Given the description of an element on the screen output the (x, y) to click on. 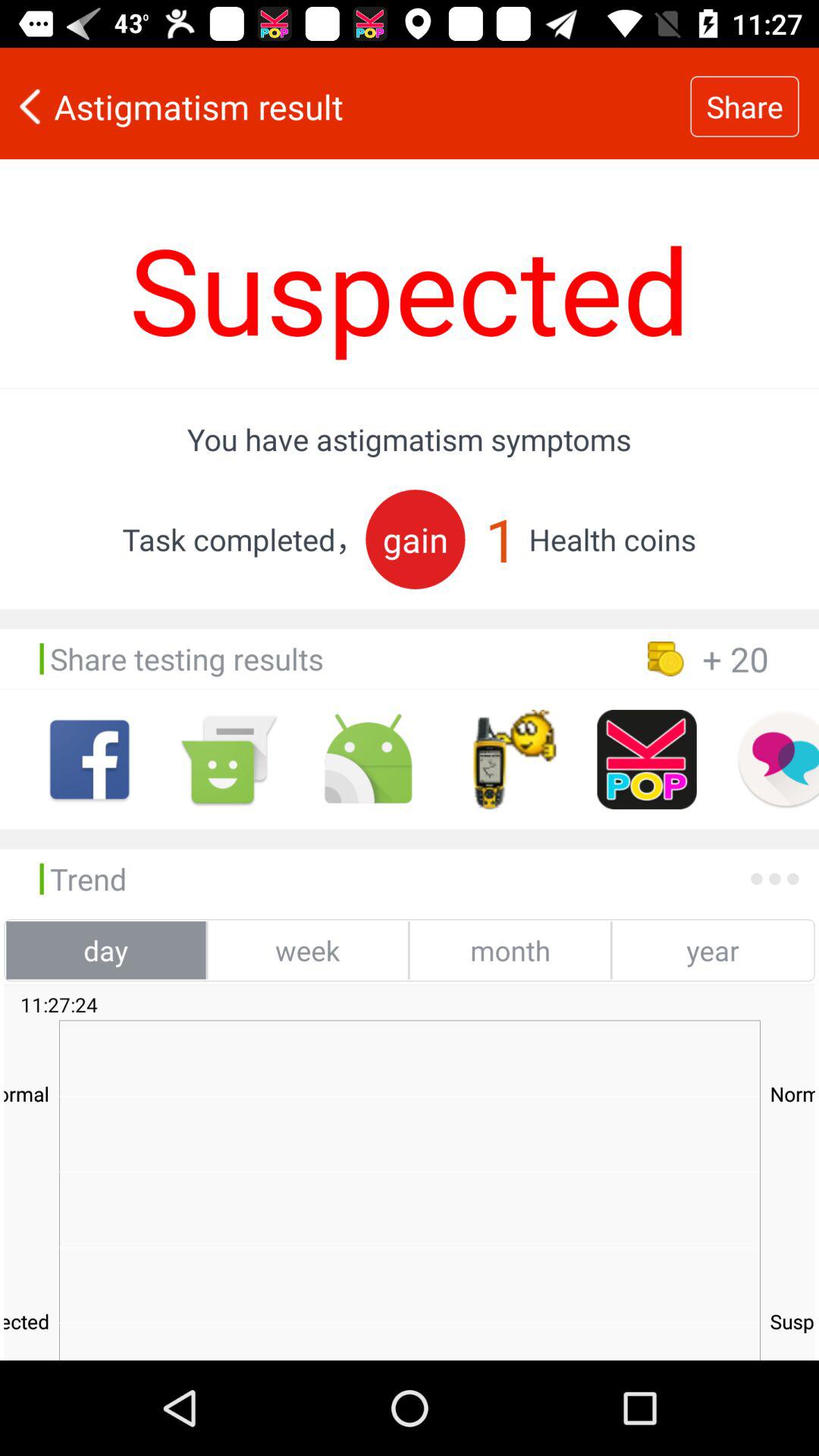
private message option (777, 759)
